Given the description of an element on the screen output the (x, y) to click on. 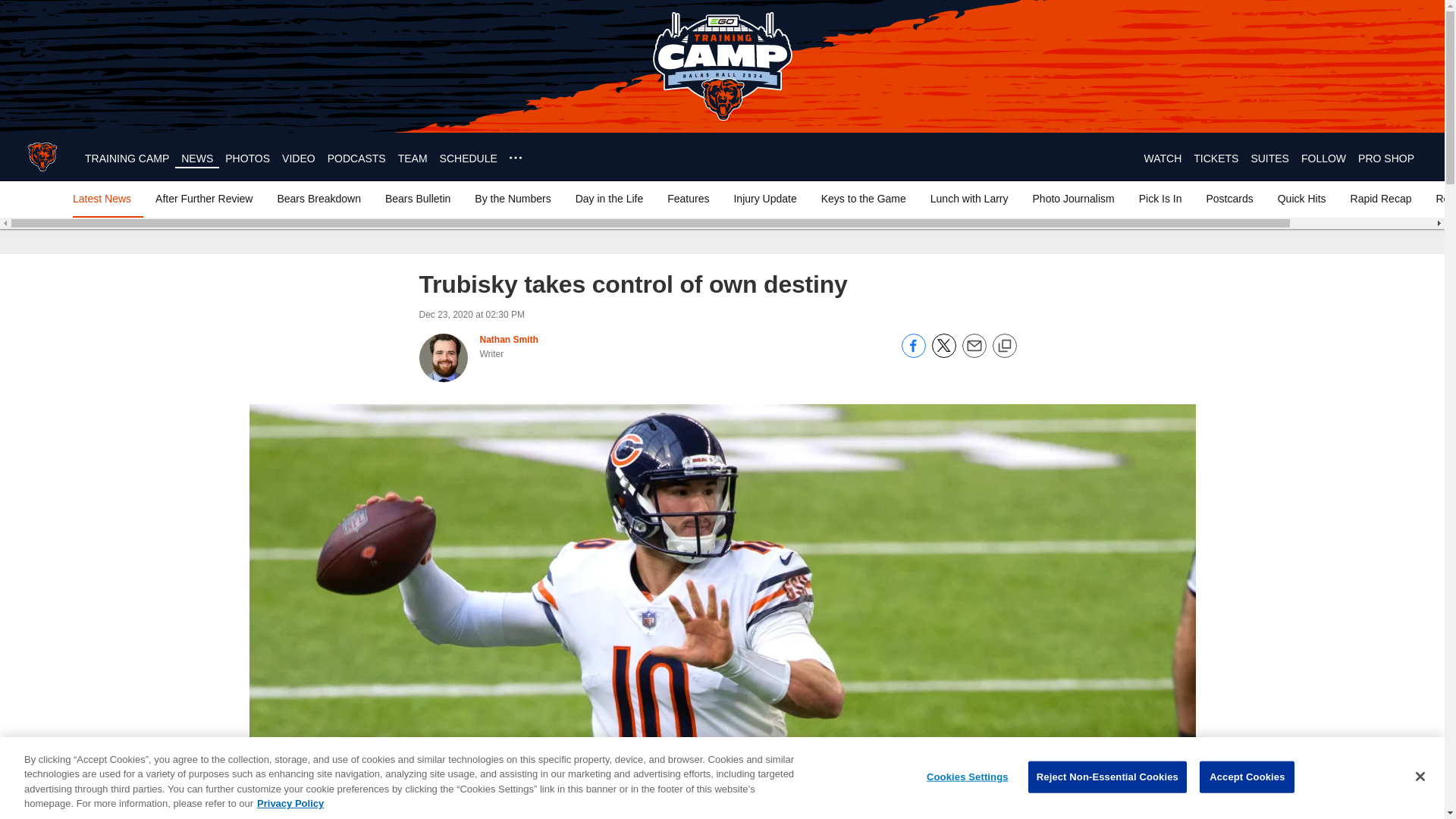
... (515, 157)
NEWS (196, 158)
Photo Journalism (1073, 198)
Features (687, 198)
After Further Review (204, 198)
Link to club's homepage (42, 156)
Injury Update (764, 198)
Quick Hits (1301, 198)
Day in the Life (609, 198)
PRO SHOP (1385, 158)
WATCH (1161, 158)
TRAINING CAMP (126, 158)
FOLLOW (1323, 158)
PODCASTS (356, 158)
TRAINING CAMP (126, 158)
